Given the description of an element on the screen output the (x, y) to click on. 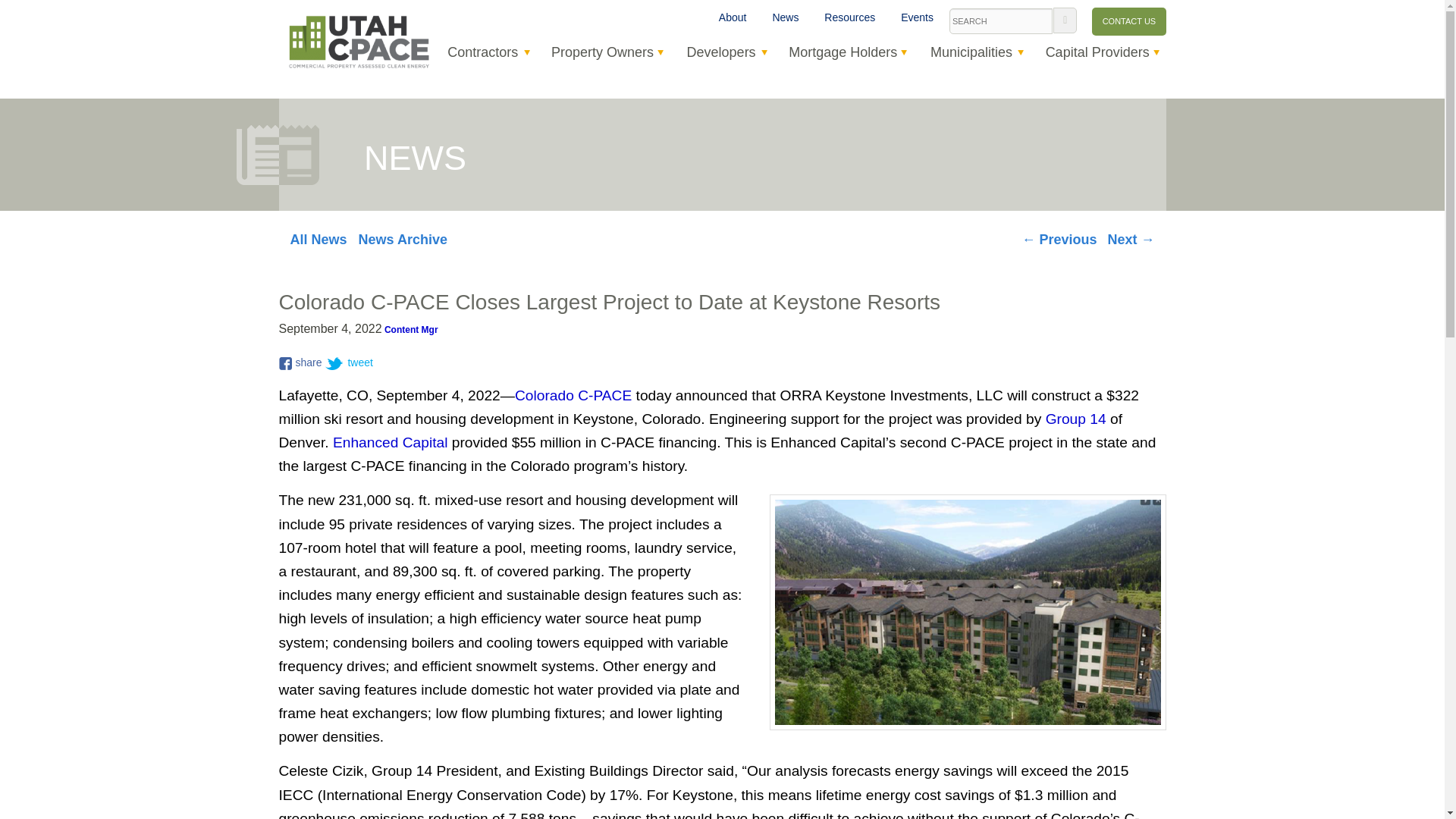
View all posts by Content Mgr (411, 329)
Property Owners (601, 52)
Municipalities (971, 52)
Events (917, 18)
Capital Providers (1097, 52)
Utah C-PACE (359, 41)
Resources (849, 18)
News (784, 18)
10:46 am (330, 329)
Mortgage Holders (842, 52)
